Given the description of an element on the screen output the (x, y) to click on. 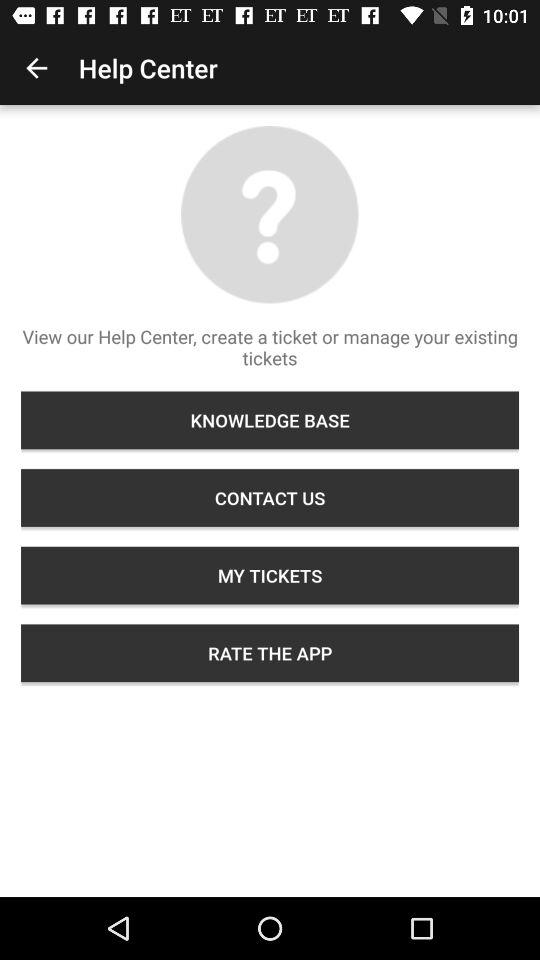
press icon next to help center item (36, 68)
